Given the description of an element on the screen output the (x, y) to click on. 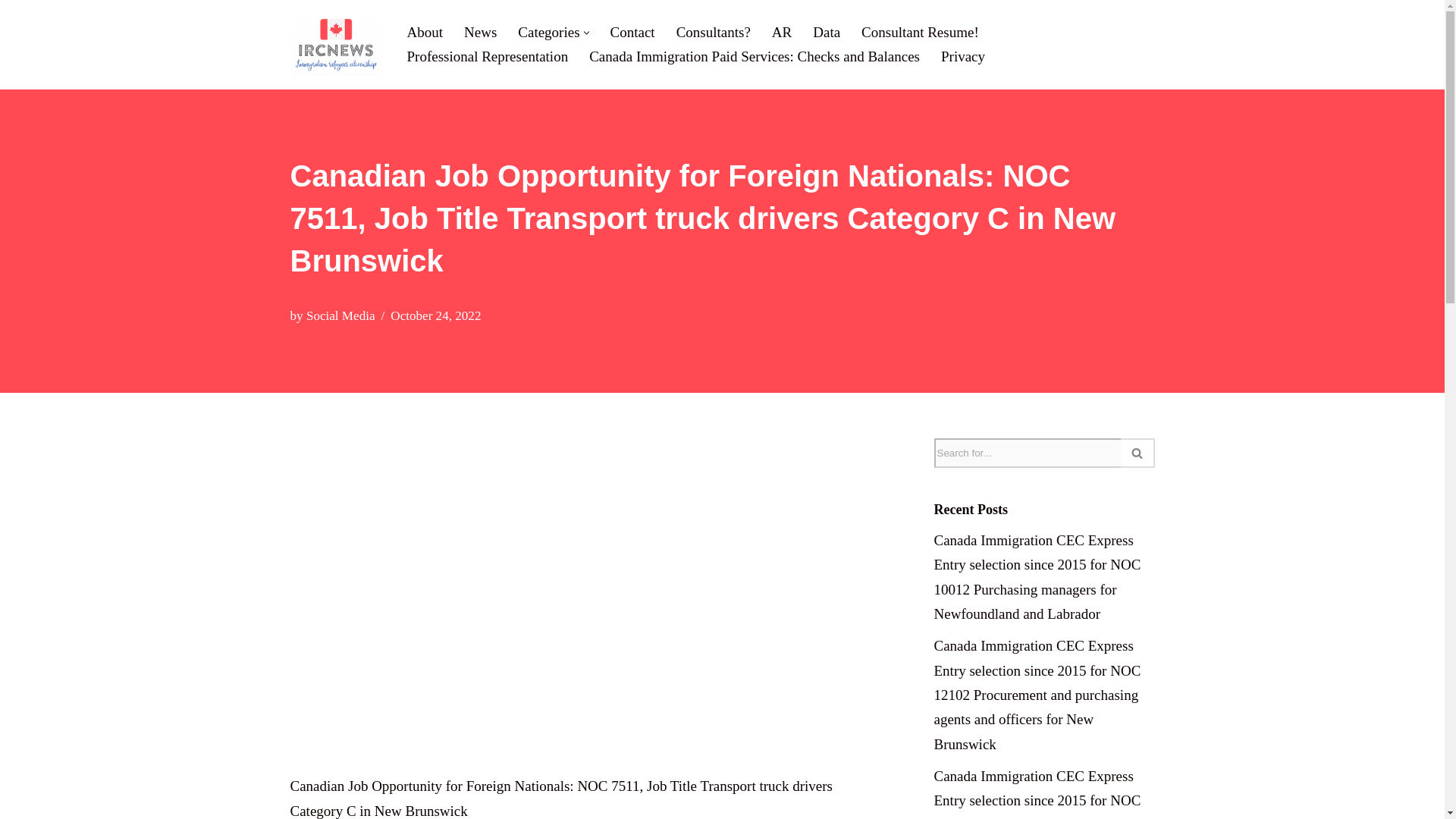
Consultant Resume! (919, 32)
Privacy (962, 56)
Categories (548, 32)
Posts by Social Media (340, 315)
Data (826, 32)
News (480, 32)
Consultants? (714, 32)
Skip to content (11, 31)
Professional Representation (486, 56)
Contact (632, 32)
About (424, 32)
Canada Immigration Paid Services: Checks and Balances (754, 56)
